Given the description of an element on the screen output the (x, y) to click on. 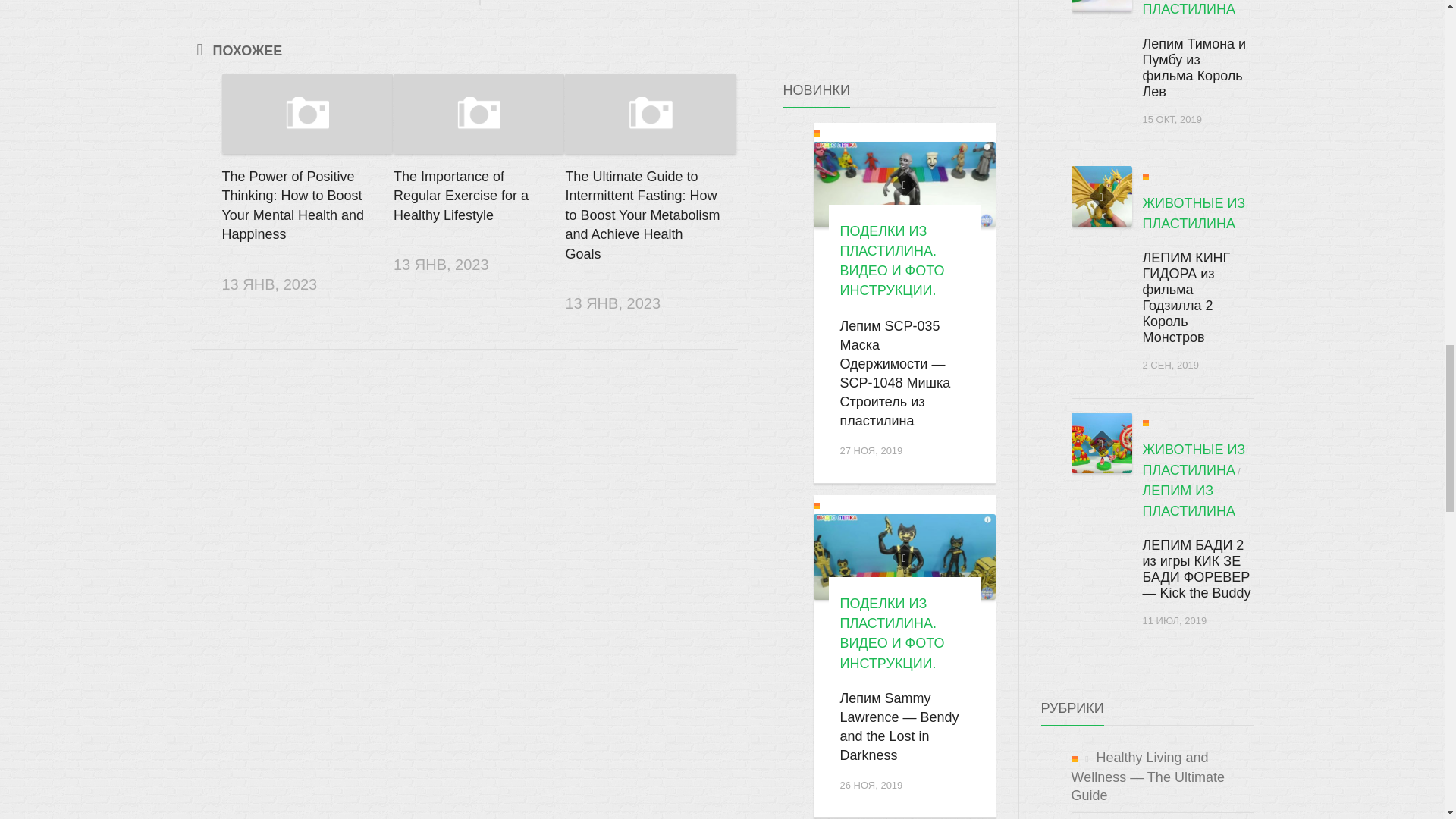
The Importance of Regular Exercise for a Healthy Lifestyle (460, 195)
The Importance of Regular Exercise for a Healthy Lifestyle (478, 113)
The Importance of Regular Exercise for a Healthy Lifestyle (460, 195)
